Given the description of an element on the screen output the (x, y) to click on. 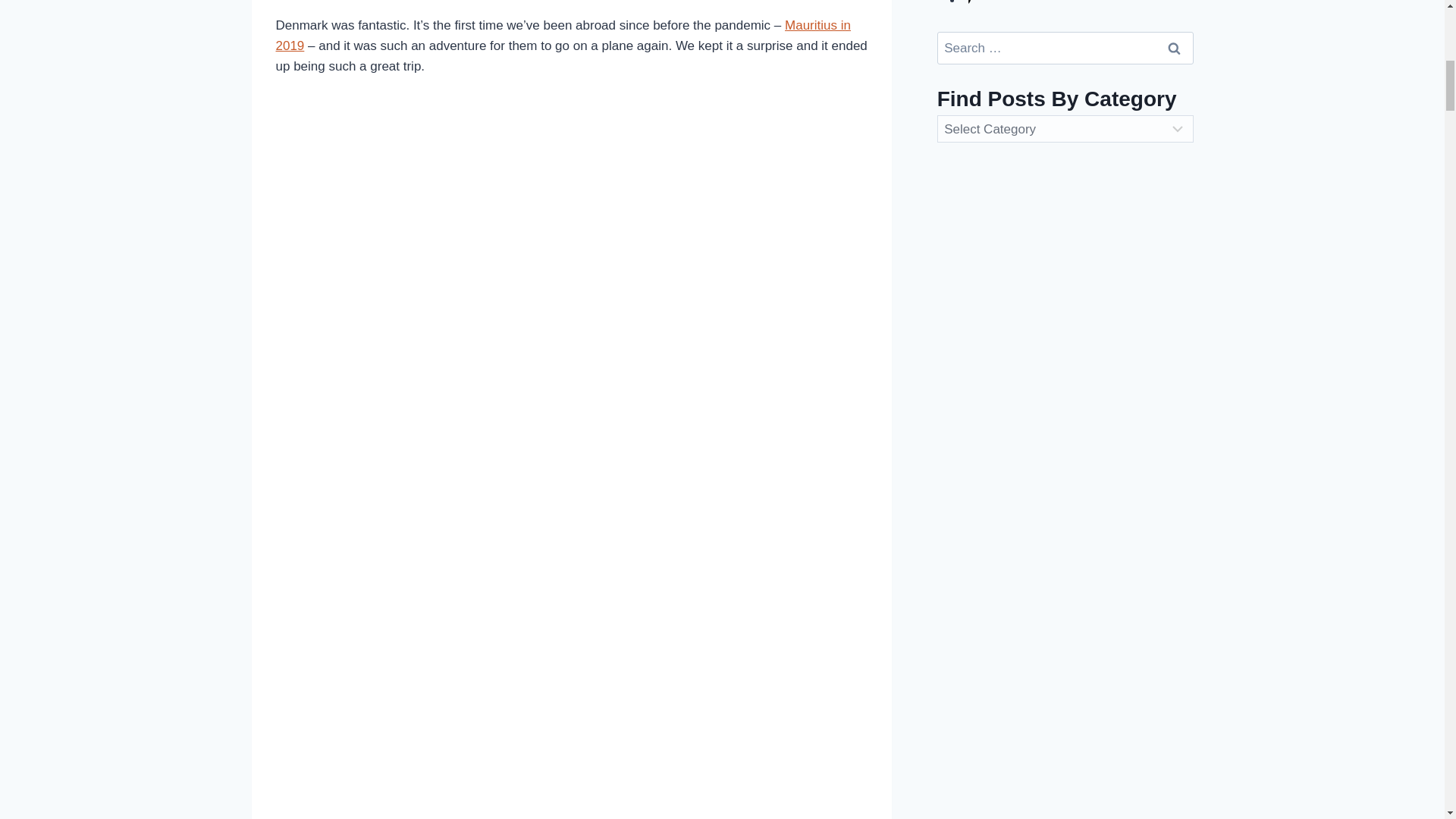
Search (1174, 47)
Search (1174, 47)
Mauritius in 2019 (563, 35)
